Given the description of an element on the screen output the (x, y) to click on. 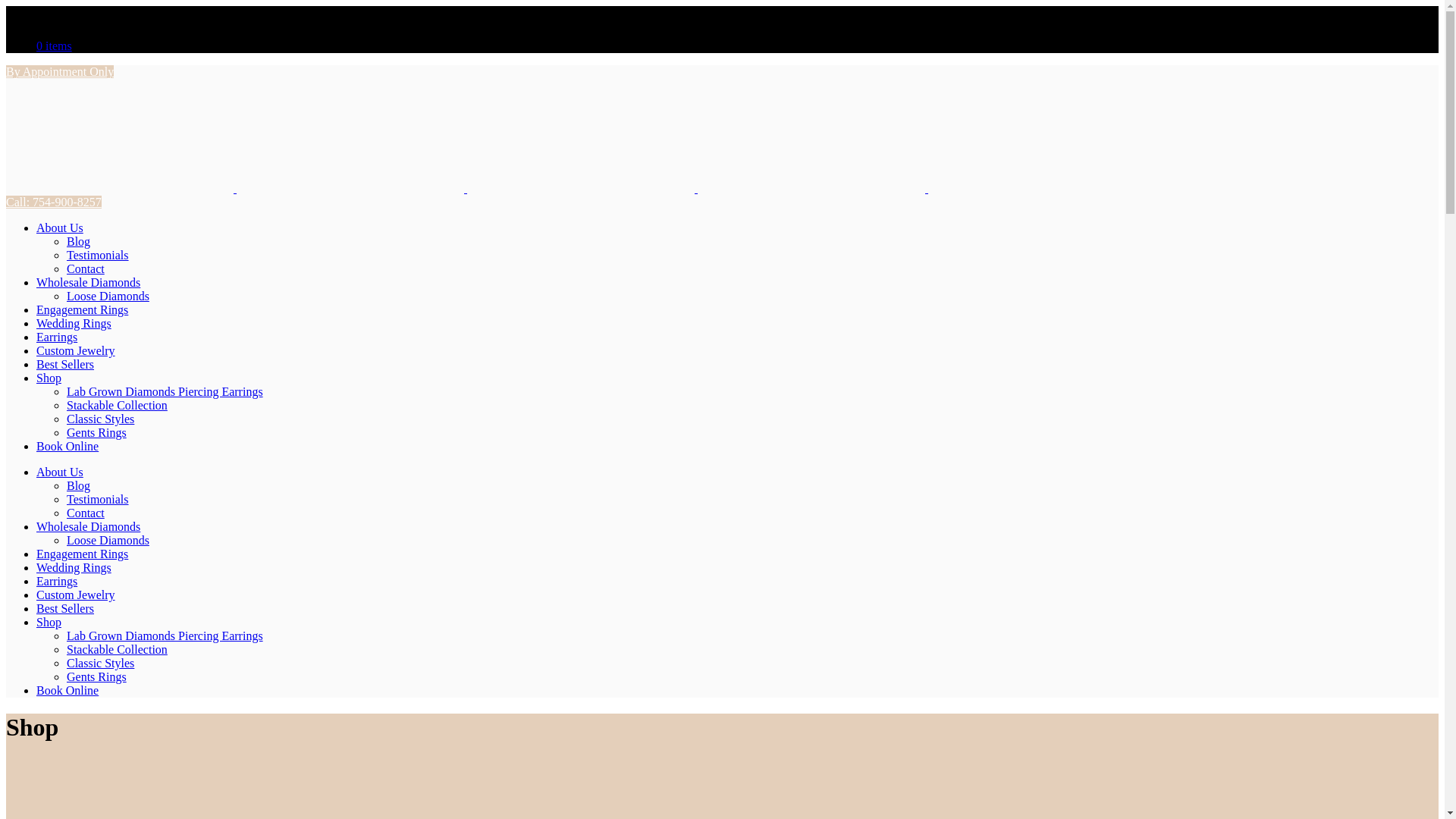
Wedding Rings (74, 567)
Best Sellers (65, 608)
Classic Styles (99, 418)
Custom Jewelry (75, 350)
Testimonials (97, 254)
Lab Grown Diamonds Piercing Earrings (164, 391)
About Us (59, 227)
Wholesale Diamonds (87, 526)
Engagement Rings (82, 309)
Shop (48, 377)
Start shopping (53, 45)
Book Online (67, 445)
Wedding Rings (74, 323)
Earrings (56, 336)
Blog (78, 241)
